Given the description of an element on the screen output the (x, y) to click on. 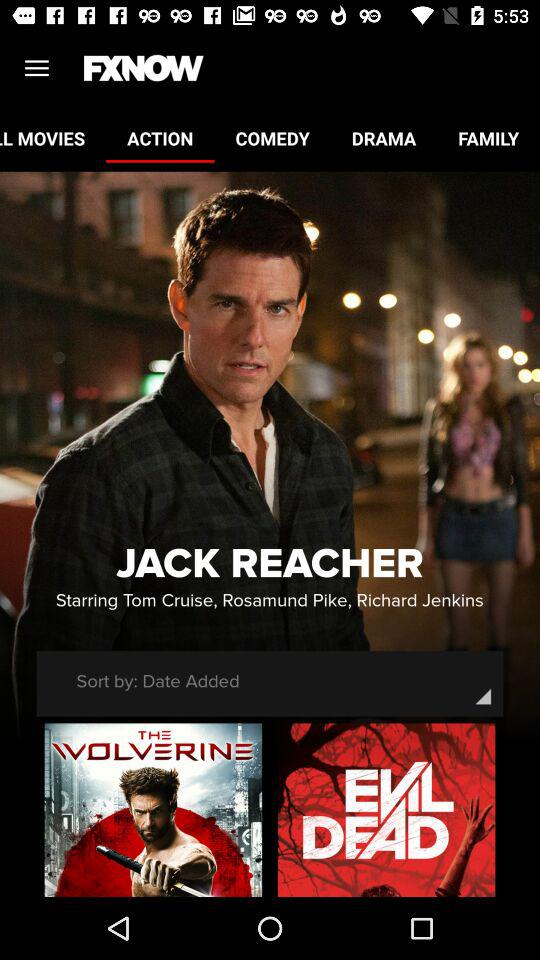
turn on icon to the right of comedy icon (383, 138)
